Given the description of an element on the screen output the (x, y) to click on. 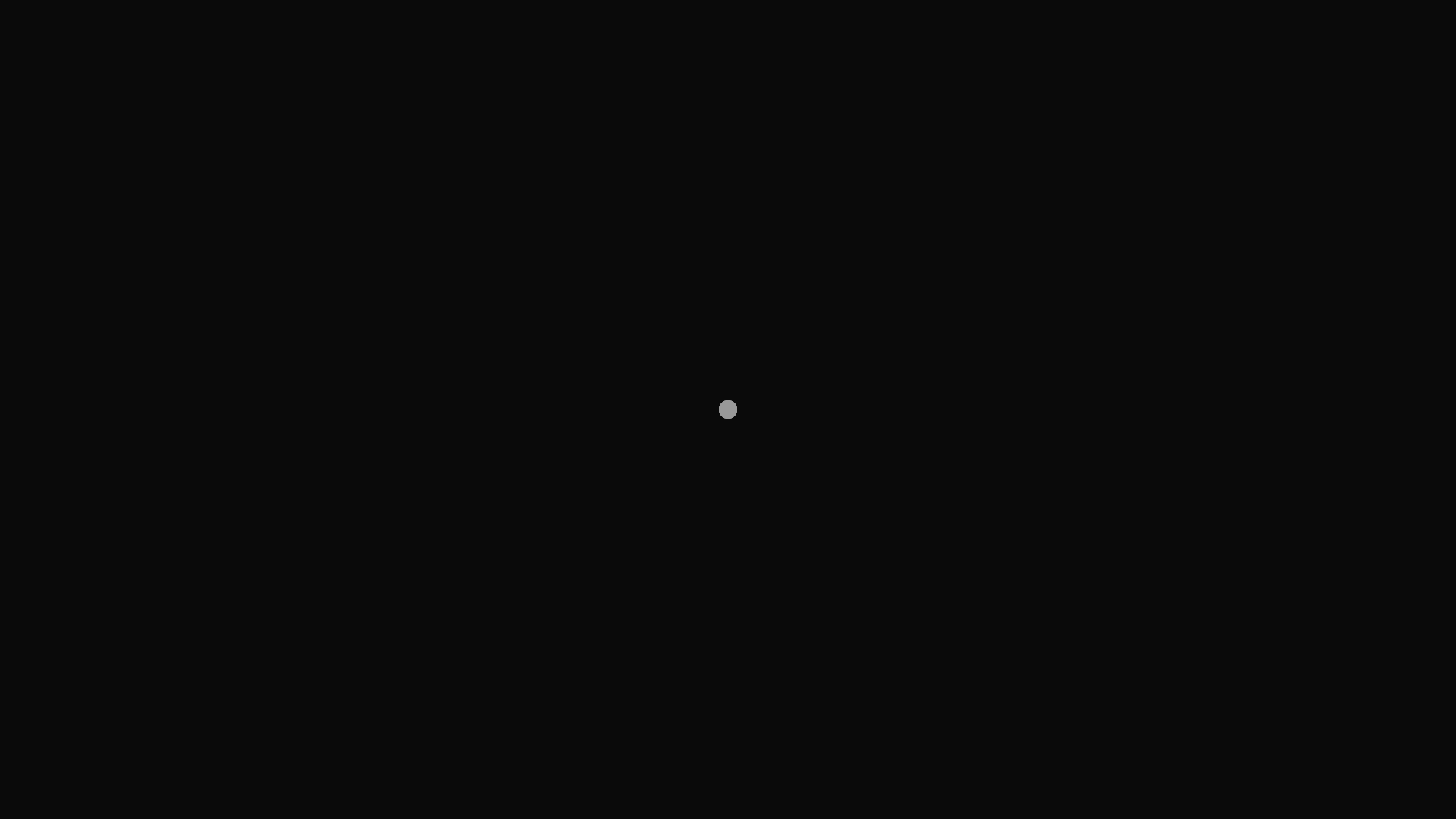
CONTACT Element type: text (1400, 63)
COMMUNICATION Element type: text (1011, 63)
ACCUEIL Element type: text (917, 63)
PROJETS Element type: text (1268, 63)
